Given the description of an element on the screen output the (x, y) to click on. 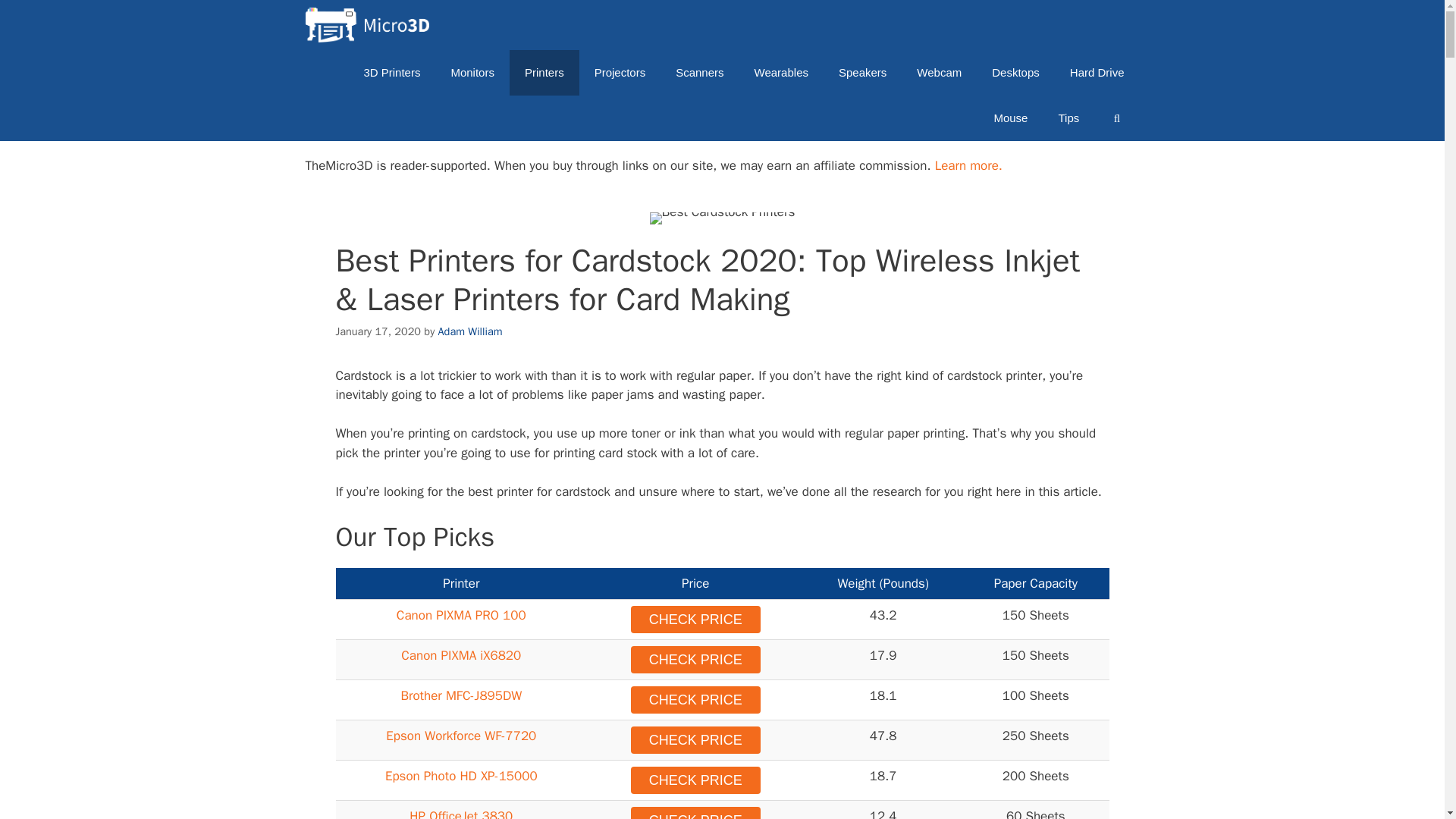
Monitors (472, 72)
View all posts by Adam William (470, 331)
Printers (544, 72)
Webcam (938, 72)
Projectors (620, 72)
CHECK PRICE (695, 659)
CHECK PRICE (695, 619)
Mouse (1010, 117)
Speakers (862, 72)
Wearables (781, 72)
